Given the description of an element on the screen output the (x, y) to click on. 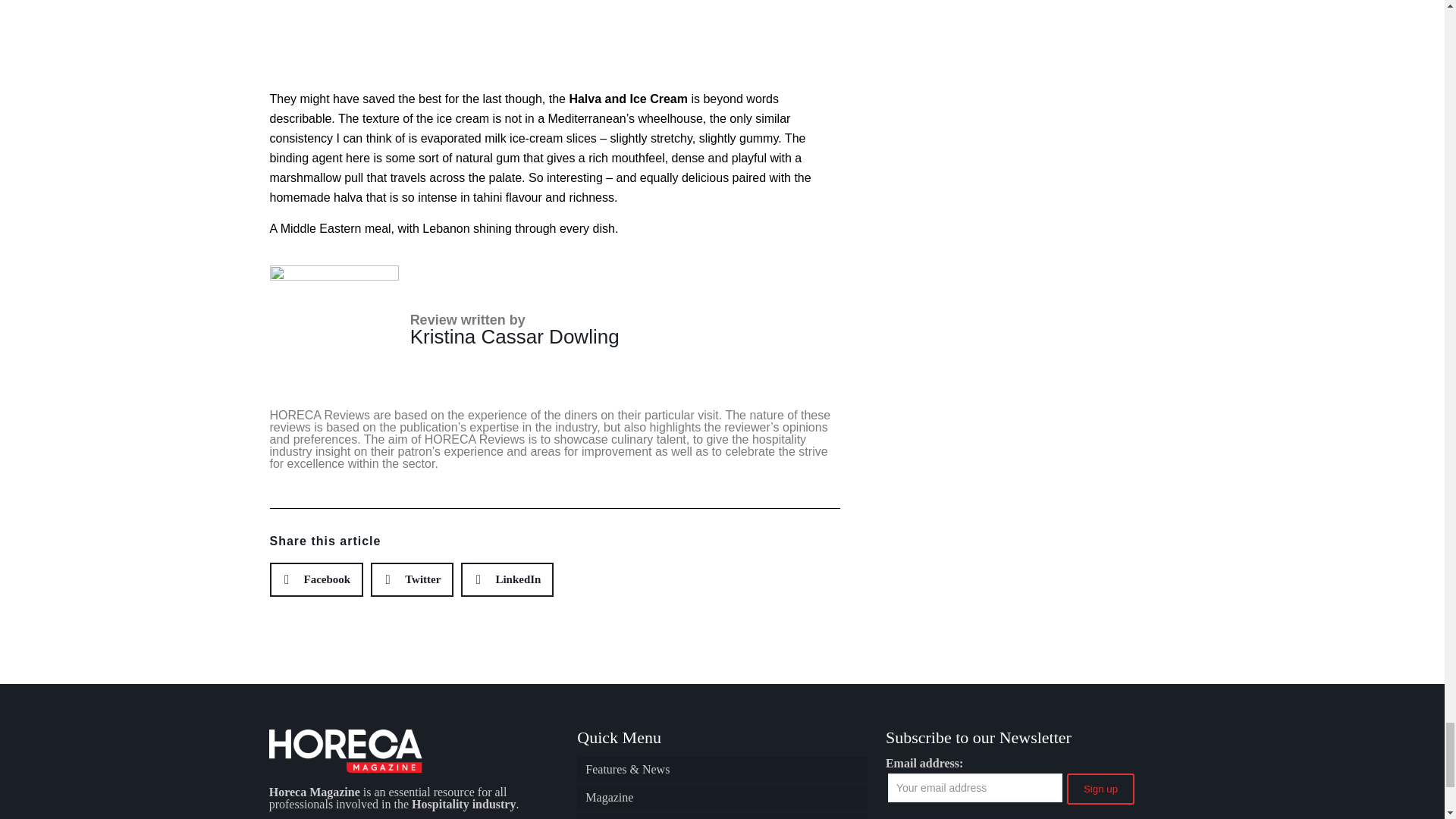
Horeca Meets (721, 816)
Sign up (1100, 788)
Sign up (1100, 788)
Magazine (721, 797)
